Given the description of an element on the screen output the (x, y) to click on. 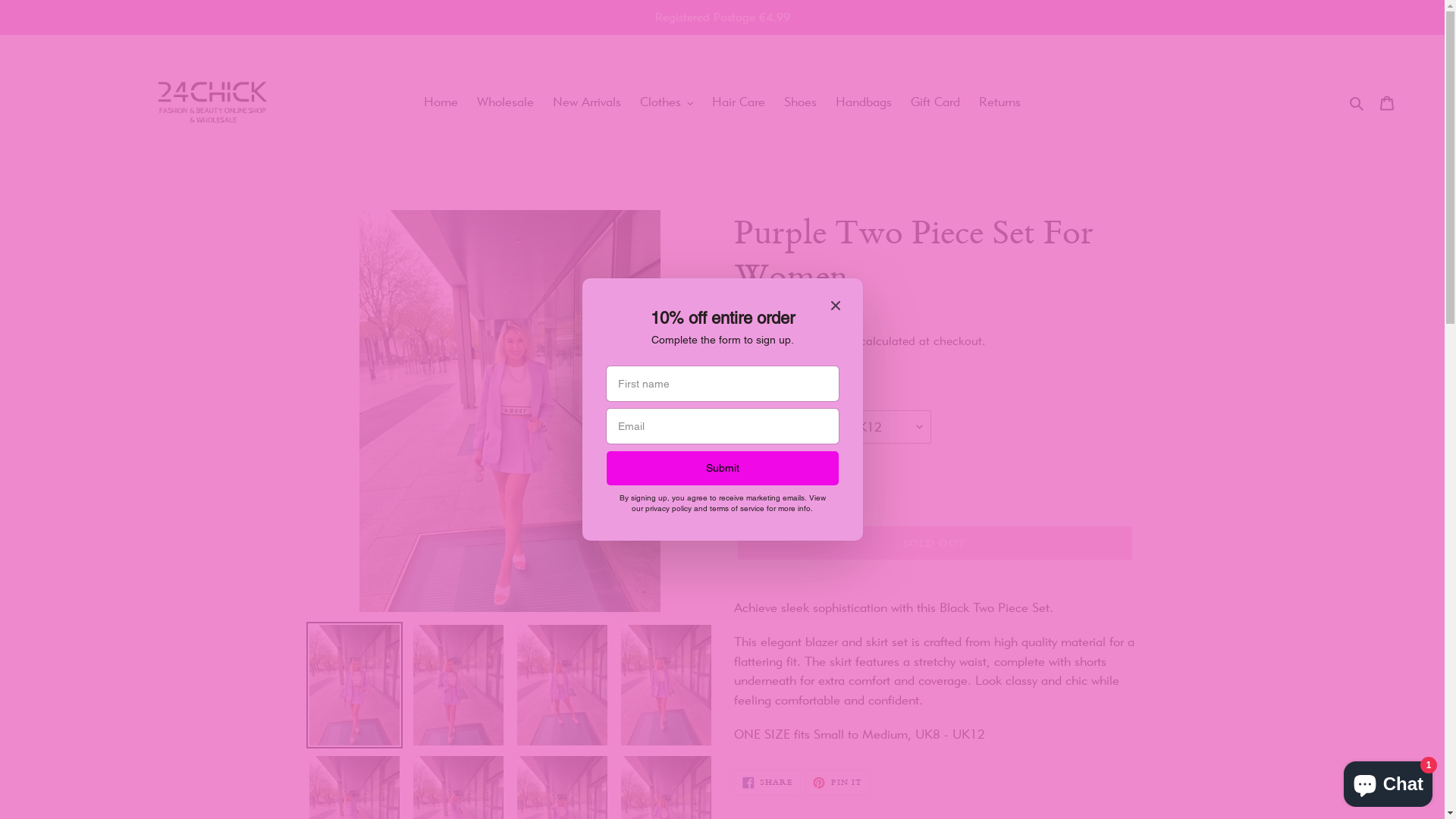
Returns Element type: text (999, 101)
New Arrivals Element type: text (586, 101)
SHARE
SHARE ON FACEBOOK Element type: text (767, 782)
Hair Care Element type: text (738, 101)
Handbags Element type: text (863, 101)
Search Element type: text (1357, 101)
Wholesale Element type: text (505, 101)
Shoes Element type: text (800, 101)
PIN IT
PIN ON PINTEREST Element type: text (837, 782)
Home Element type: text (440, 101)
Shopify online store chat Element type: hover (1388, 780)
Gift Card Element type: text (935, 101)
Shipping Element type: text (831, 341)
Cart Element type: text (1386, 101)
SOLD OUT Element type: text (934, 542)
Clothes Element type: text (666, 101)
